Given the description of an element on the screen output the (x, y) to click on. 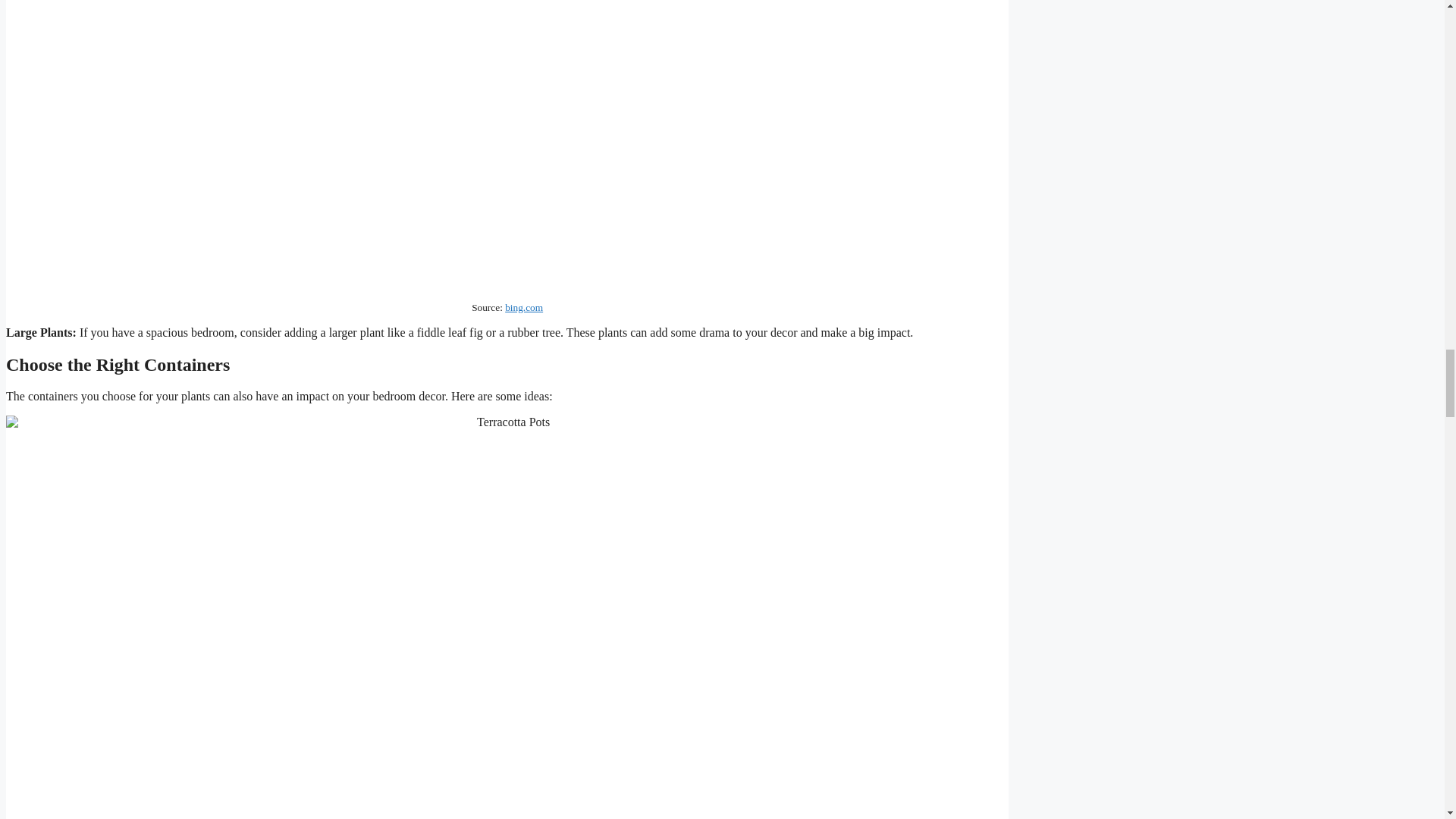
bing.com (524, 307)
